Given the description of an element on the screen output the (x, y) to click on. 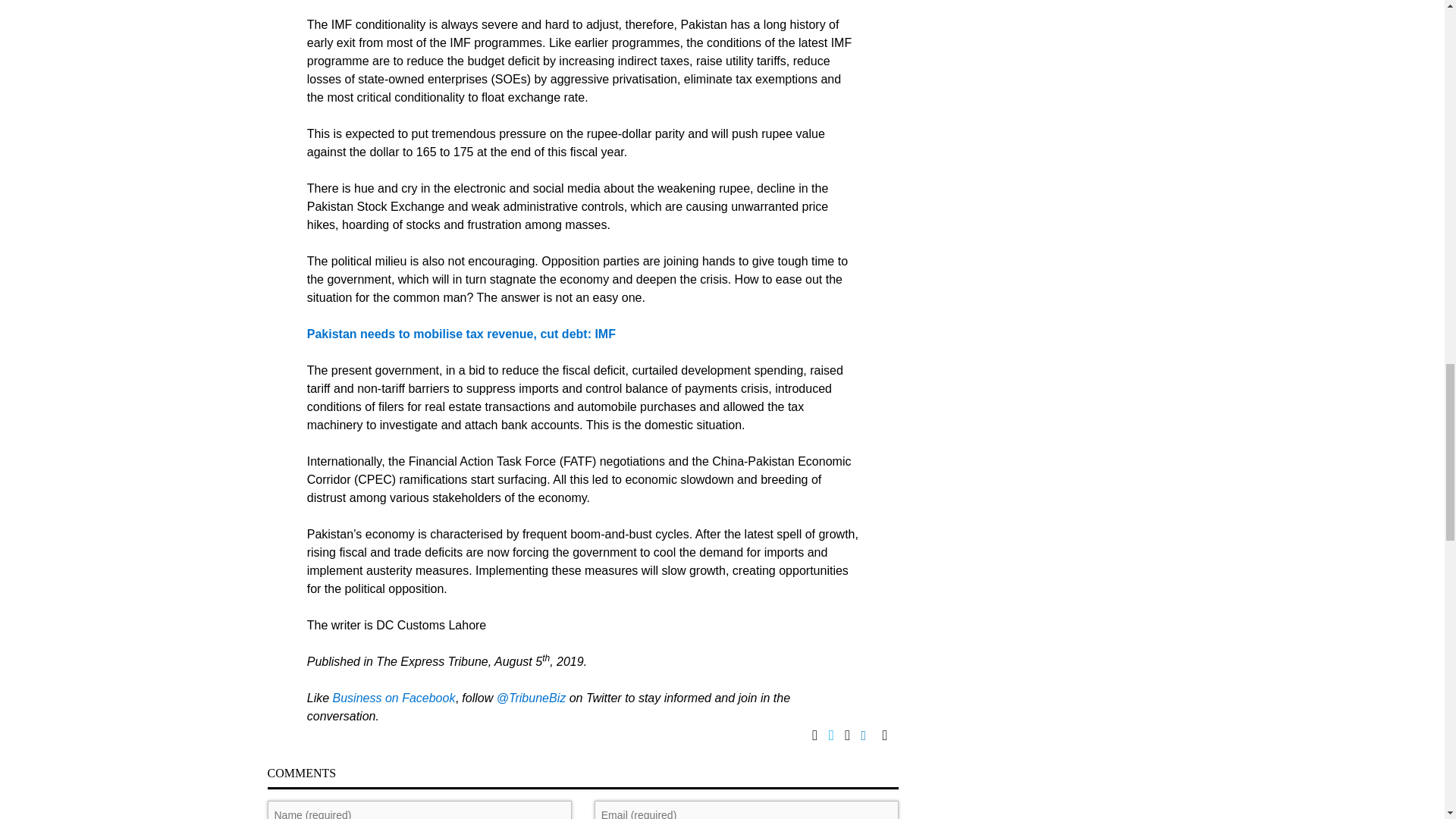
Business on Facebook (394, 697)
Pakistan needs to mobilise tax revenue, cut debt: IMF (461, 333)
linkded (871, 736)
